Given the description of an element on the screen output the (x, y) to click on. 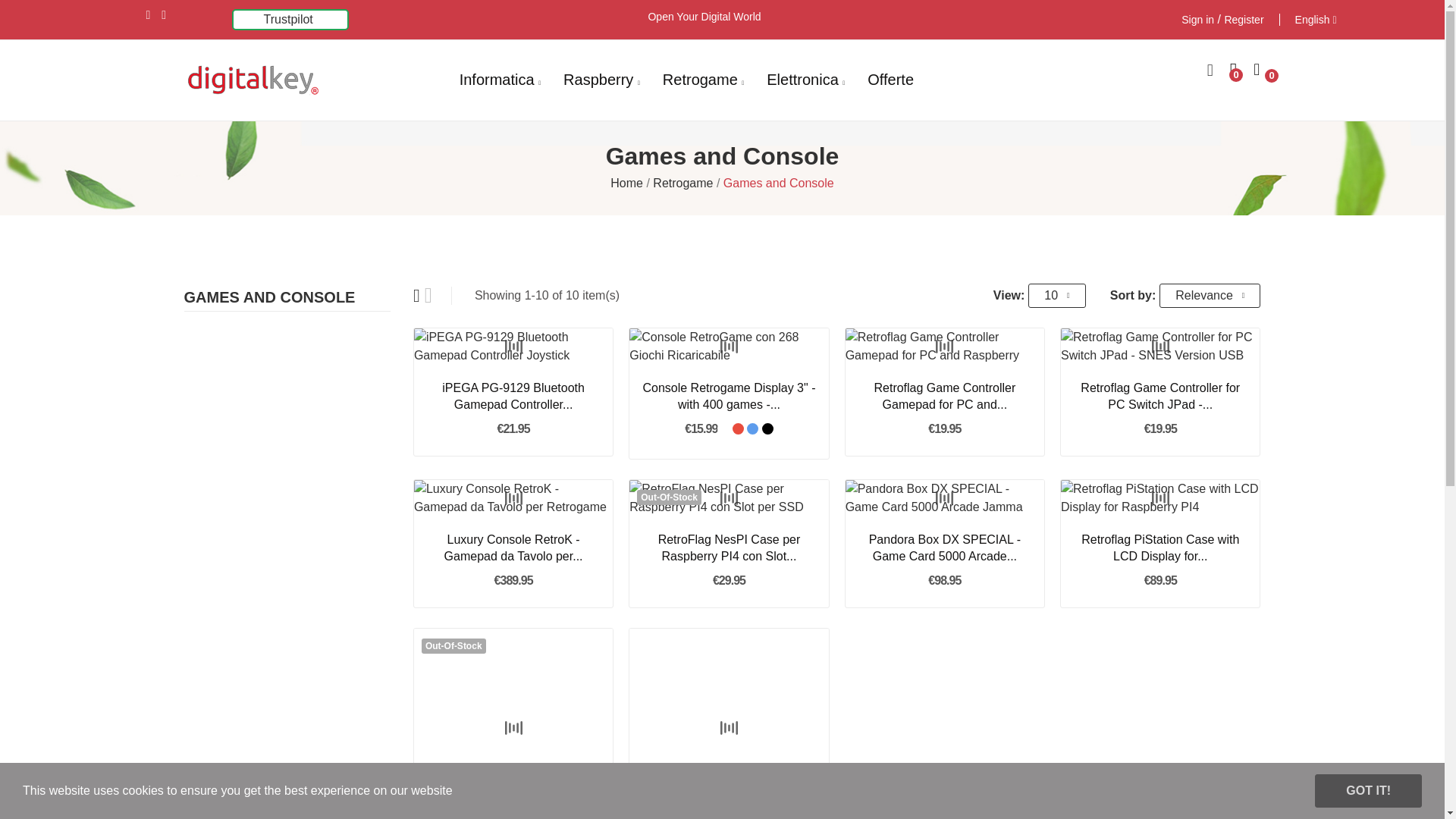
Elettronica (805, 79)
Informatica (500, 79)
Register (1243, 19)
iPEGA PG-9129 Bluetooth Gamepad Controller Joystick (513, 397)
Blu (752, 428)
Offerte (890, 79)
Raspberry (601, 79)
Retrogame (703, 79)
Nero (767, 428)
Sign in (1197, 19)
